Given the description of an element on the screen output the (x, y) to click on. 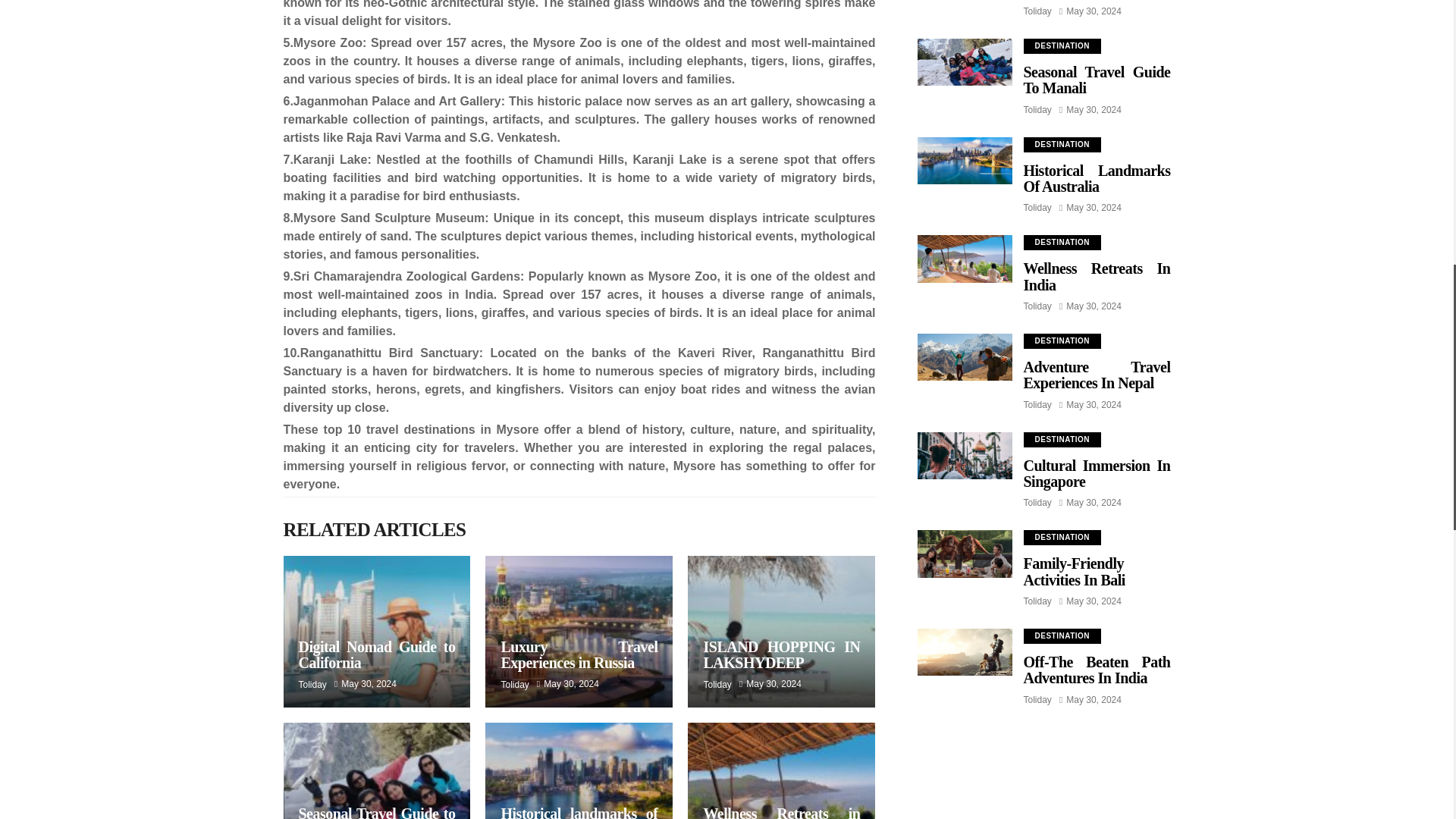
Toliday (716, 684)
Every people are enjoy with the job that they love (578, 631)
Toliday (312, 684)
Every people are enjoy with the job that they love (376, 631)
Every people are enjoy with the job that they love (376, 770)
Historical landmarks of Australia (579, 812)
Digital Nomad Guide to California (376, 654)
ISLAND HOPPING IN LAKSHYDEEP (781, 654)
Toliday (514, 684)
Wellness Retreats in India (781, 812)
